Given the description of an element on the screen output the (x, y) to click on. 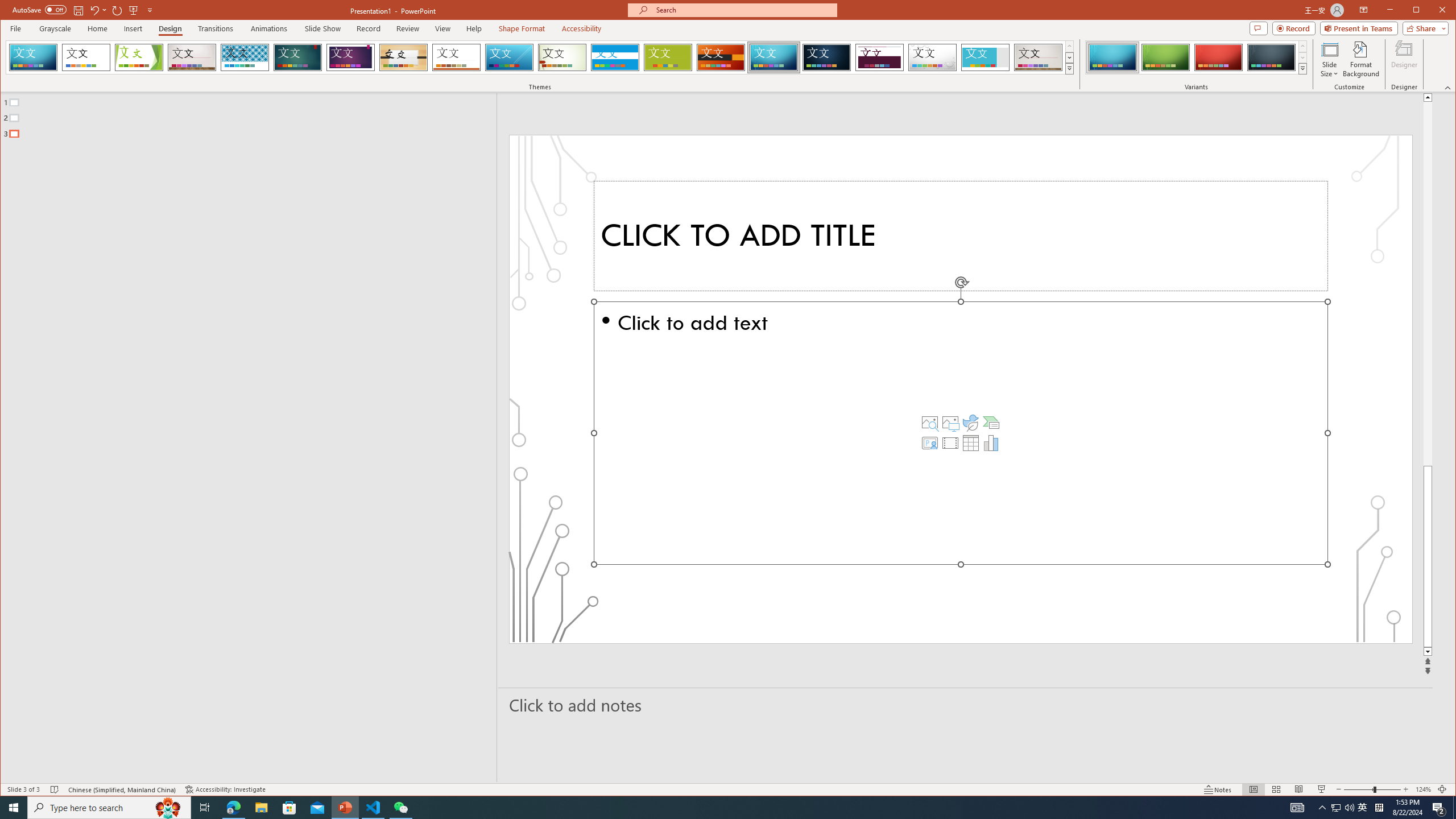
Insert a SmartArt Graphic (991, 422)
Basis (668, 57)
Insert Video (949, 443)
Office Theme (85, 57)
Circuit Variant 4 (1270, 57)
Facet (138, 57)
